Given the description of an element on the screen output the (x, y) to click on. 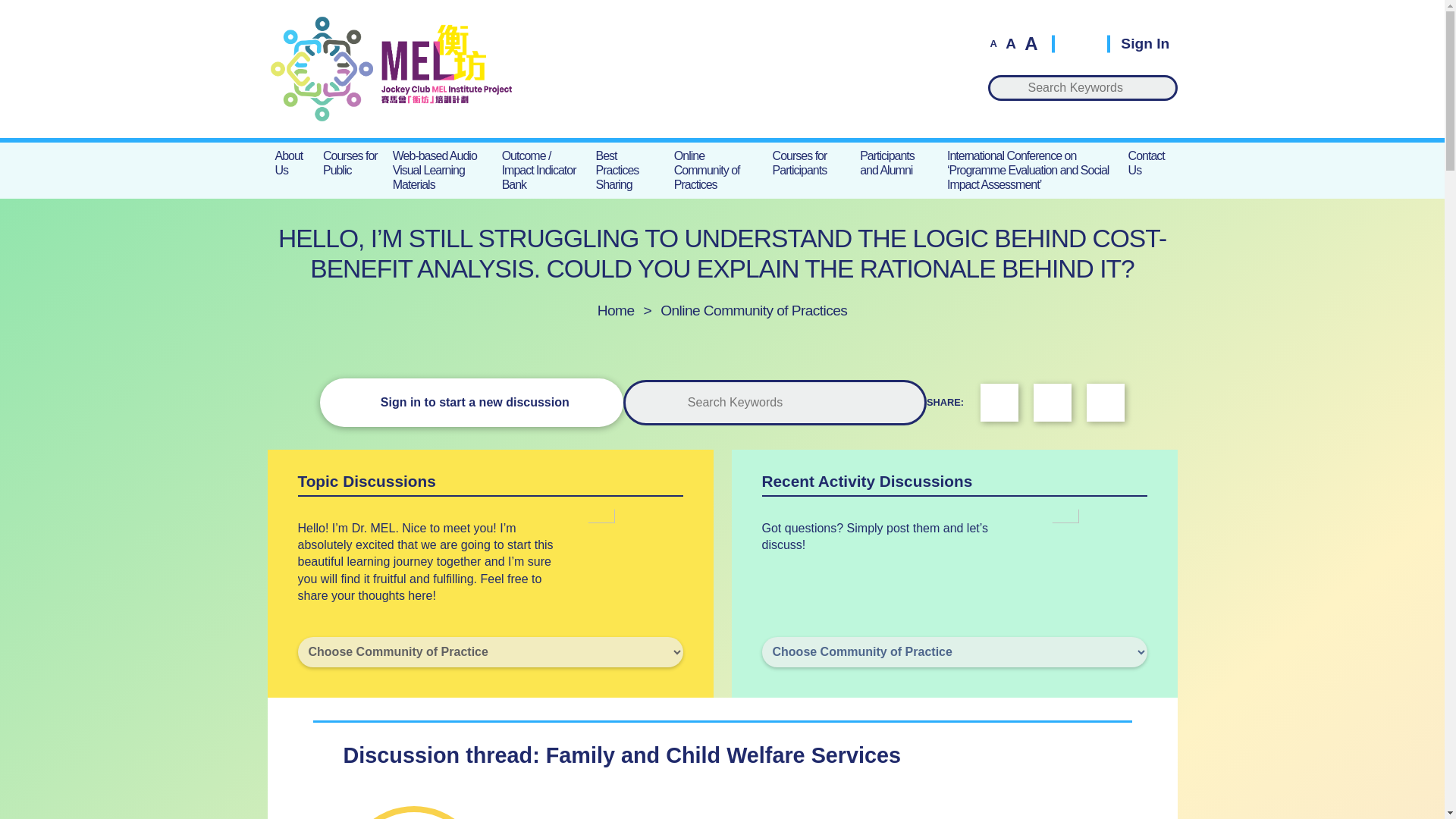
Participants and Alumni (895, 162)
Sign in to start a new discussion (471, 401)
Web-based Audio Visual Learning Materials (440, 170)
Contact Us (1149, 162)
Sign In (1137, 43)
Online Community of Practices (754, 310)
Courses for Public (350, 162)
Best Practices Sharing (627, 170)
A (1030, 44)
A (1010, 43)
